Given the description of an element on the screen output the (x, y) to click on. 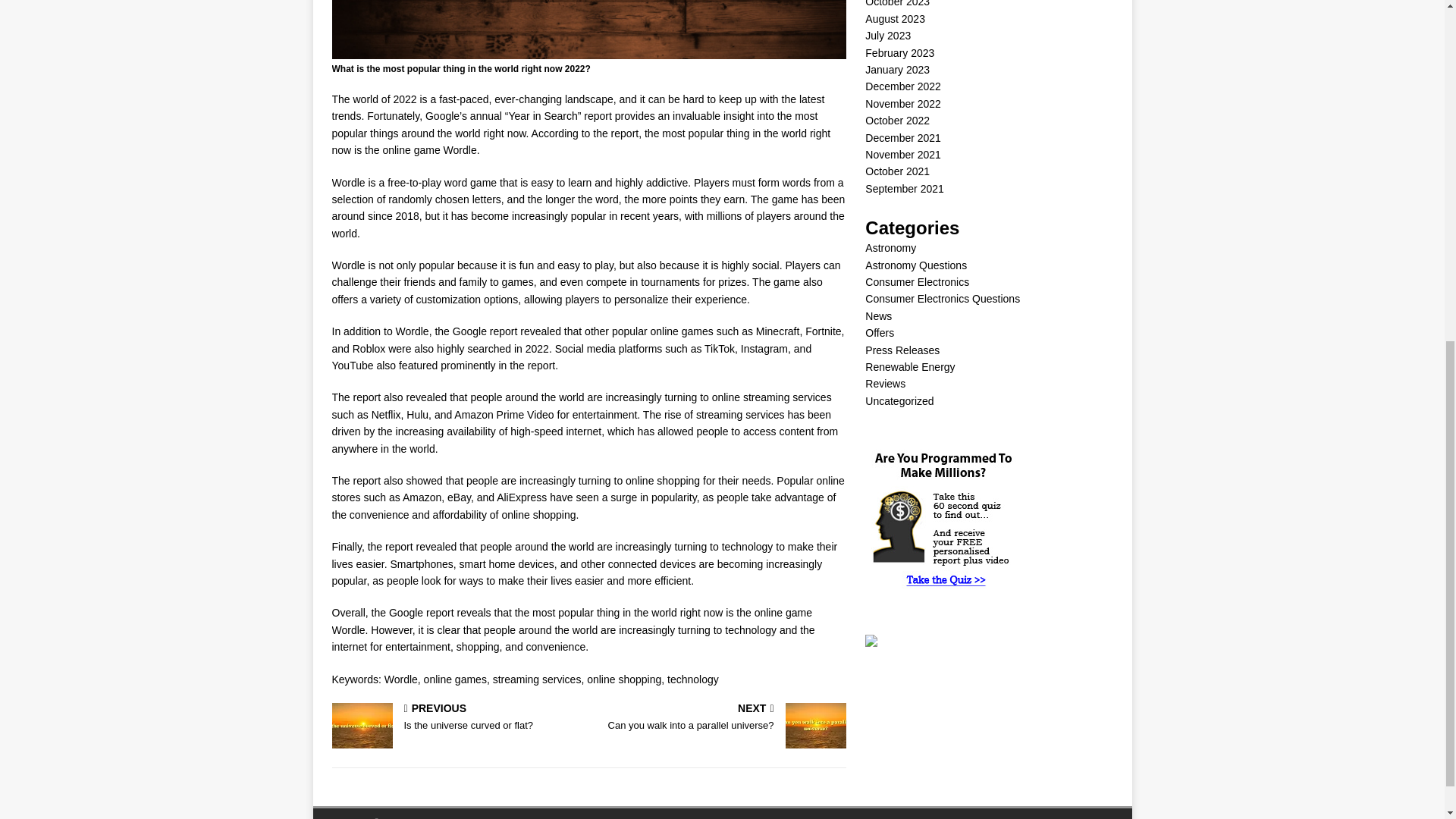
What is the most popular thing in the world right now 2022? (457, 717)
